Given the description of an element on the screen output the (x, y) to click on. 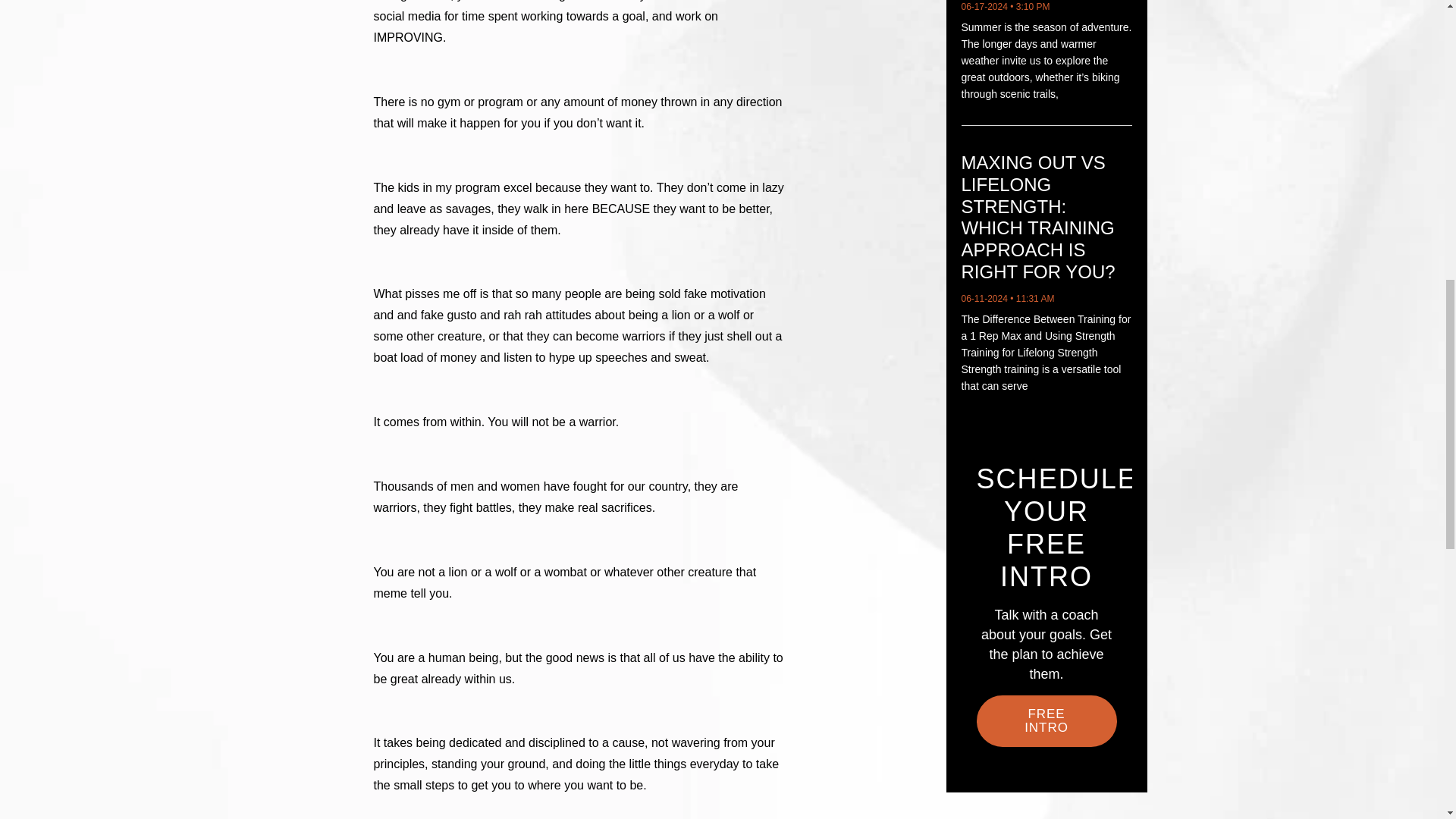
FREE INTRO (1046, 720)
